Given the description of an element on the screen output the (x, y) to click on. 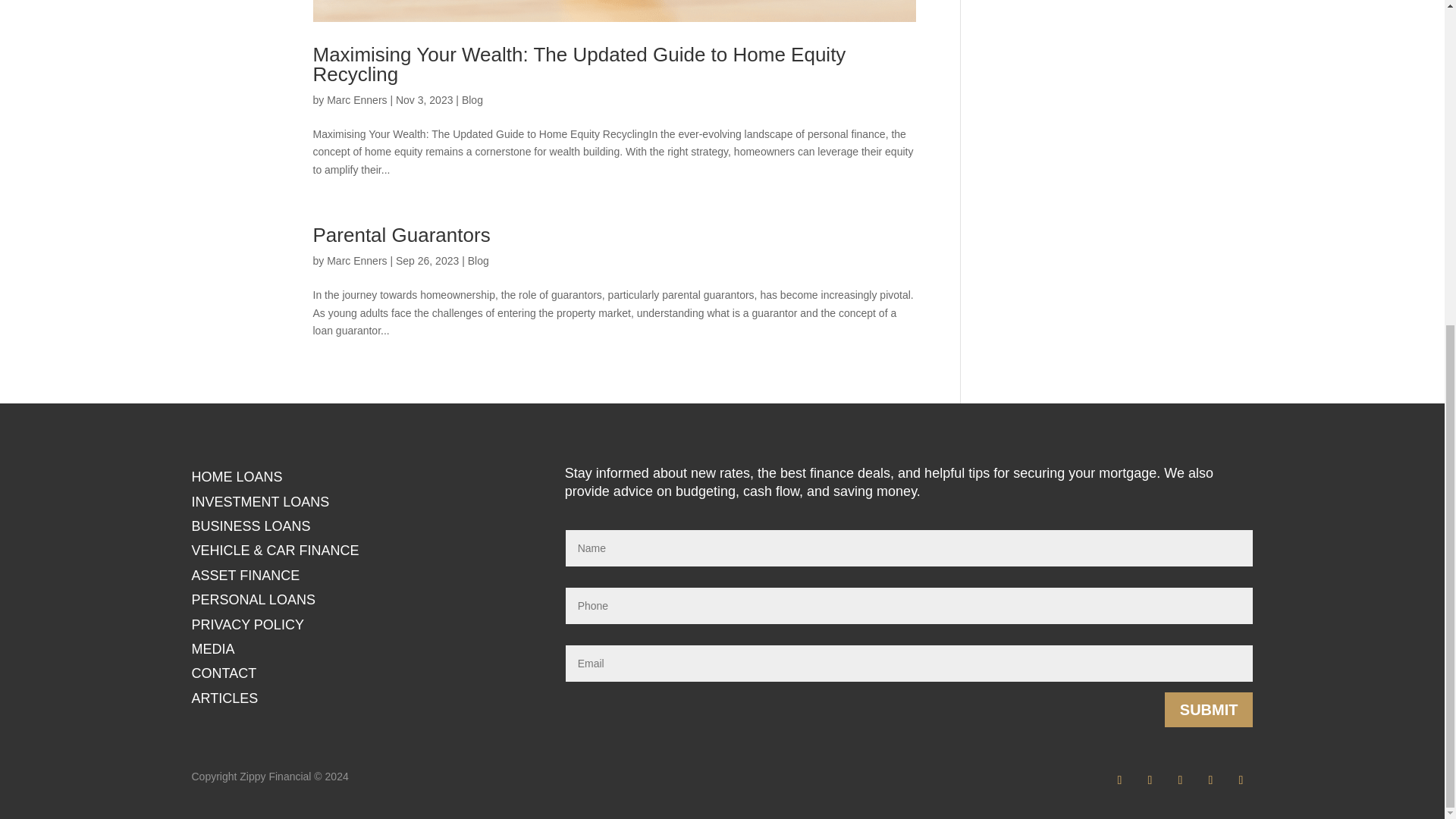
Follow on Instagram (1149, 780)
Follow on LinkedIn (1179, 780)
Follow on Youtube (1240, 780)
Follow on X (1210, 780)
Posts by Marc Enners (356, 100)
Follow on Facebook (1118, 780)
Posts by Marc Enners (356, 260)
